Given the description of an element on the screen output the (x, y) to click on. 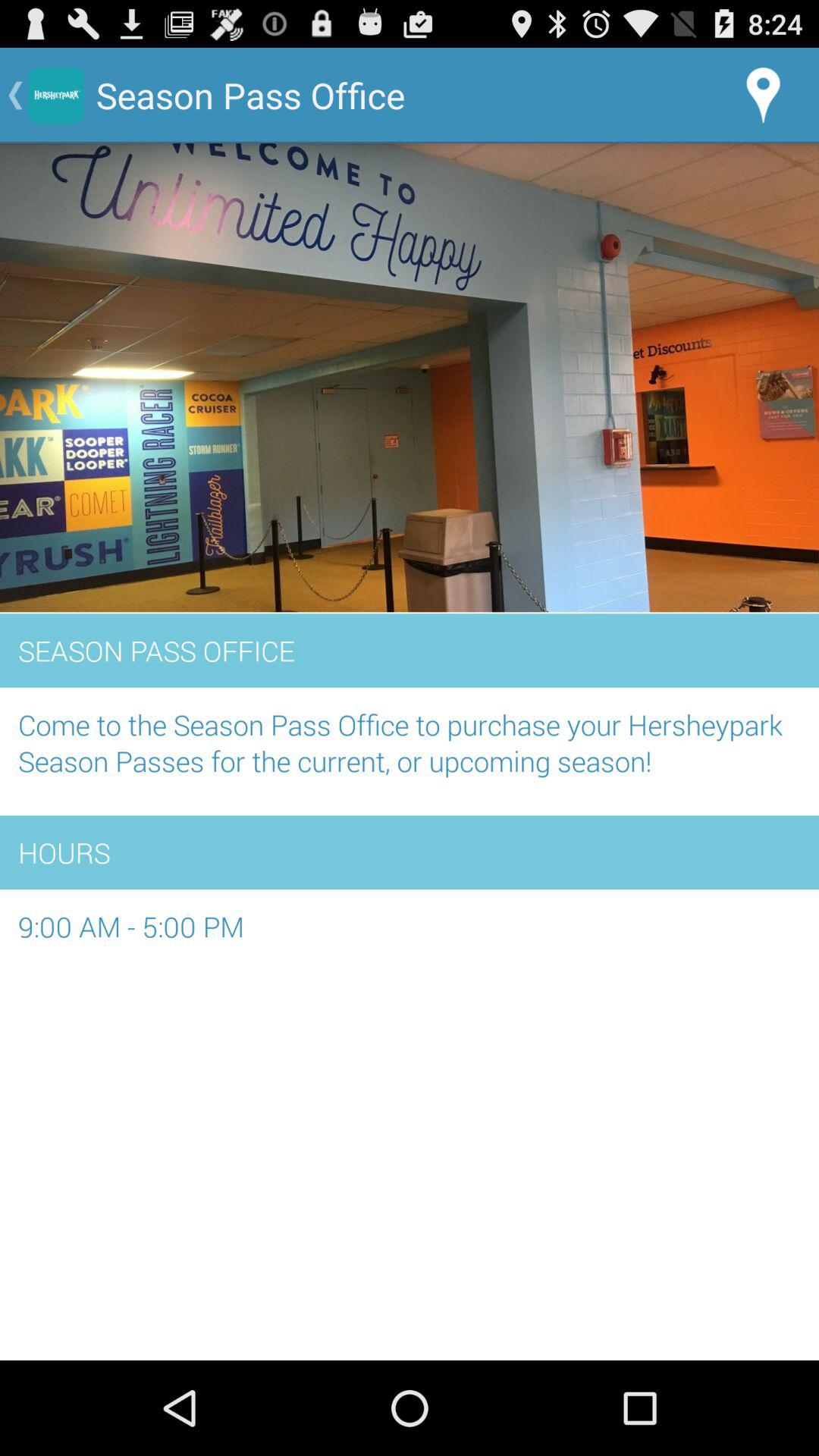
launch the app above hours item (409, 751)
